Given the description of an element on the screen output the (x, y) to click on. 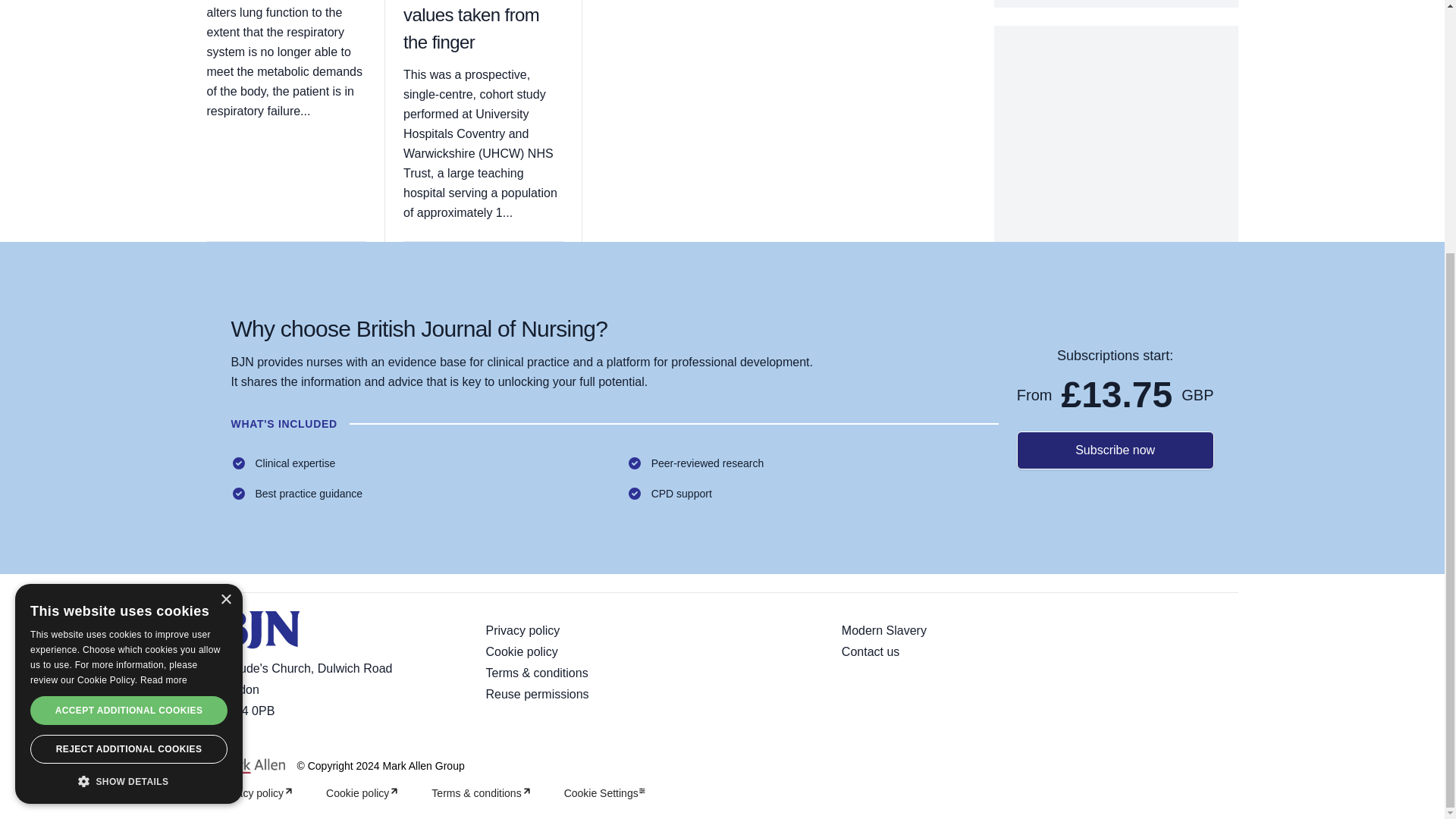
3rd party ad content (1116, 120)
